Given the description of an element on the screen output the (x, y) to click on. 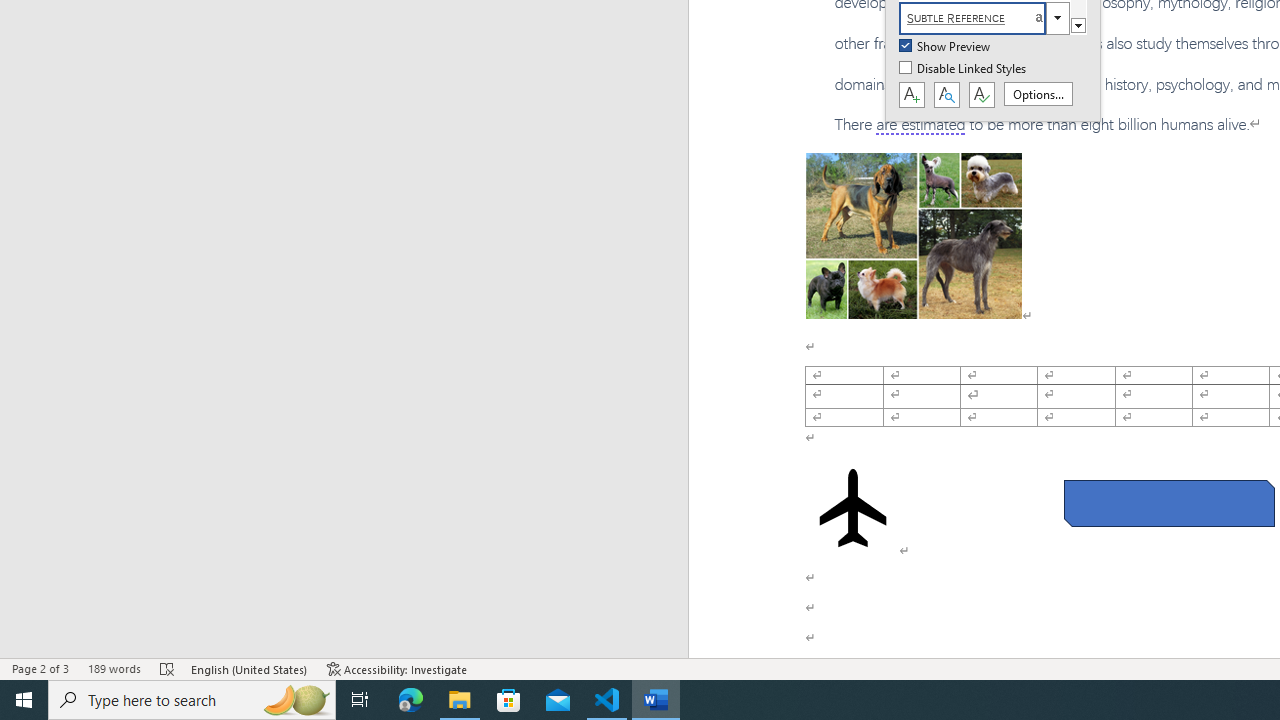
Class: NetUIButton (981, 95)
Accessibility Checker Accessibility: Investigate (397, 668)
Show Preview (946, 47)
Subtle Reference (984, 18)
Airplane with solid fill (852, 507)
Page Number Page 2 of 3 (39, 668)
Disable Linked Styles (964, 69)
Language English (United States) (250, 668)
Options... (1037, 93)
Spelling and Grammar Check Errors (168, 668)
Rectangle: Diagonal Corners Snipped 2 (1168, 503)
Morphological variation in six dogs (913, 235)
